Given the description of an element on the screen output the (x, y) to click on. 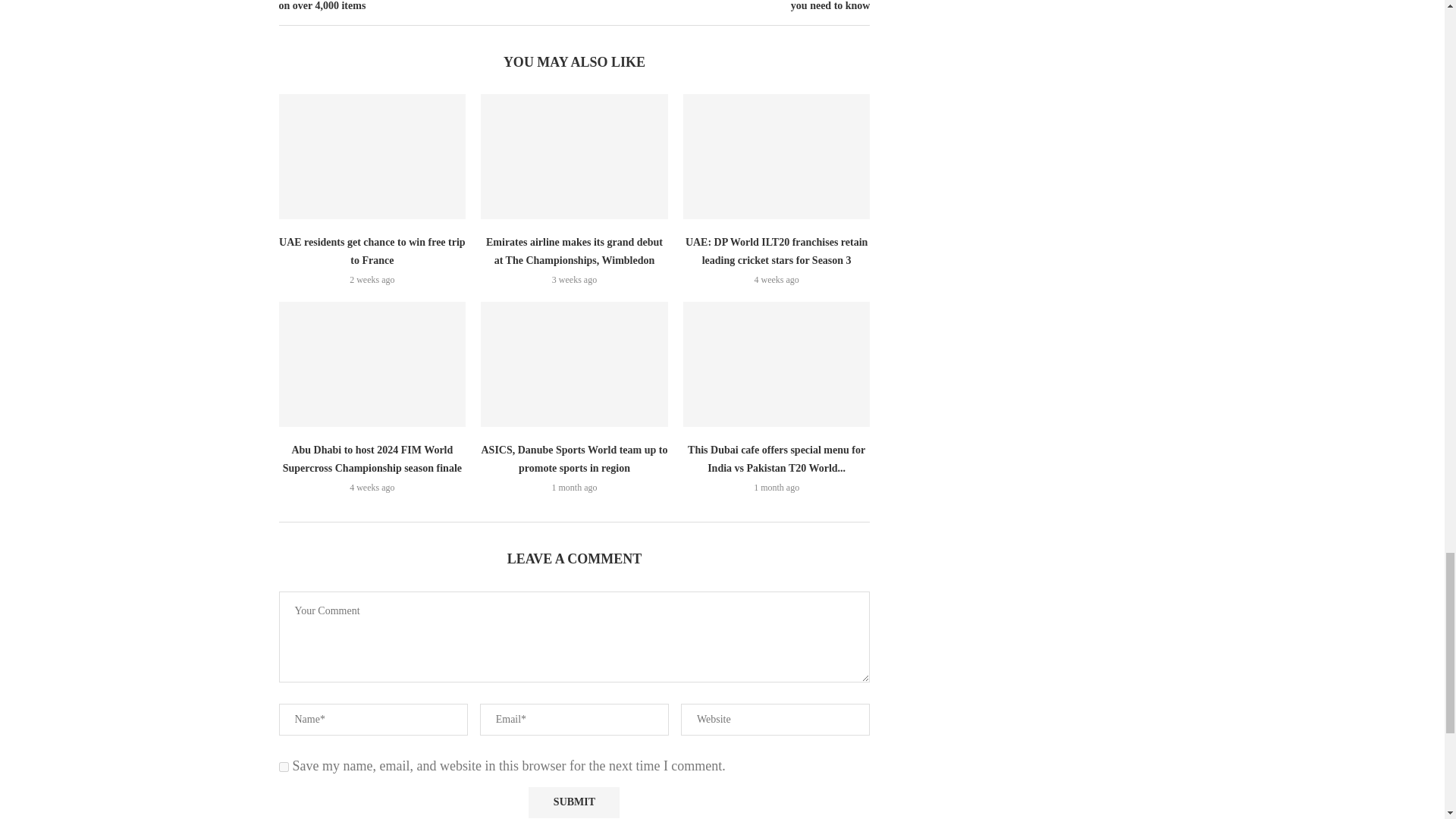
Submit (574, 802)
yes (283, 767)
UAE residents get chance to win free trip to France (372, 156)
